Given the description of an element on the screen output the (x, y) to click on. 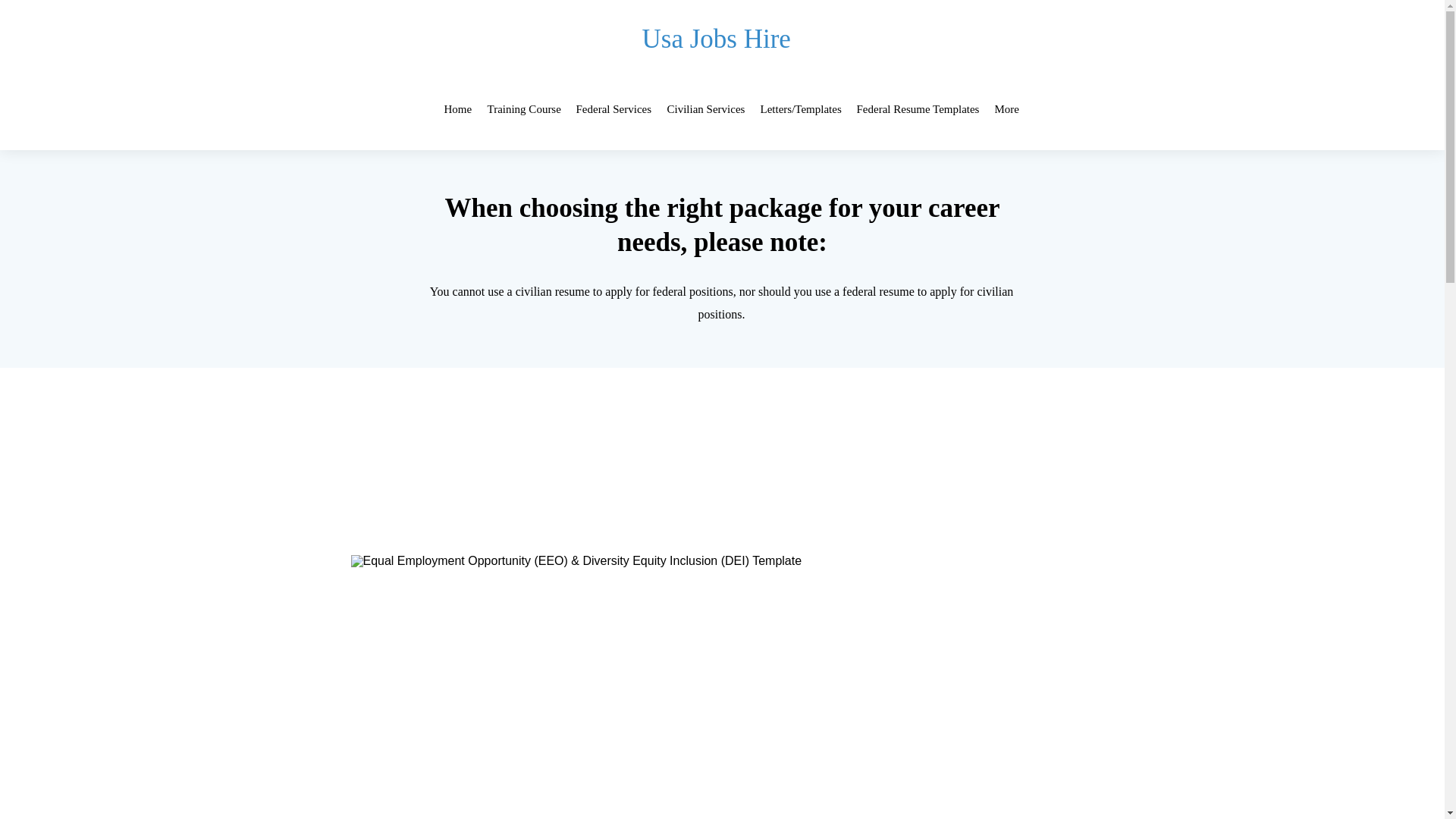
Federal Resume Templates (917, 109)
Civilian Services (705, 109)
Training Course (523, 109)
Federal Services (614, 109)
Home (458, 109)
Usa Jobs Hire (716, 39)
